Given the description of an element on the screen output the (x, y) to click on. 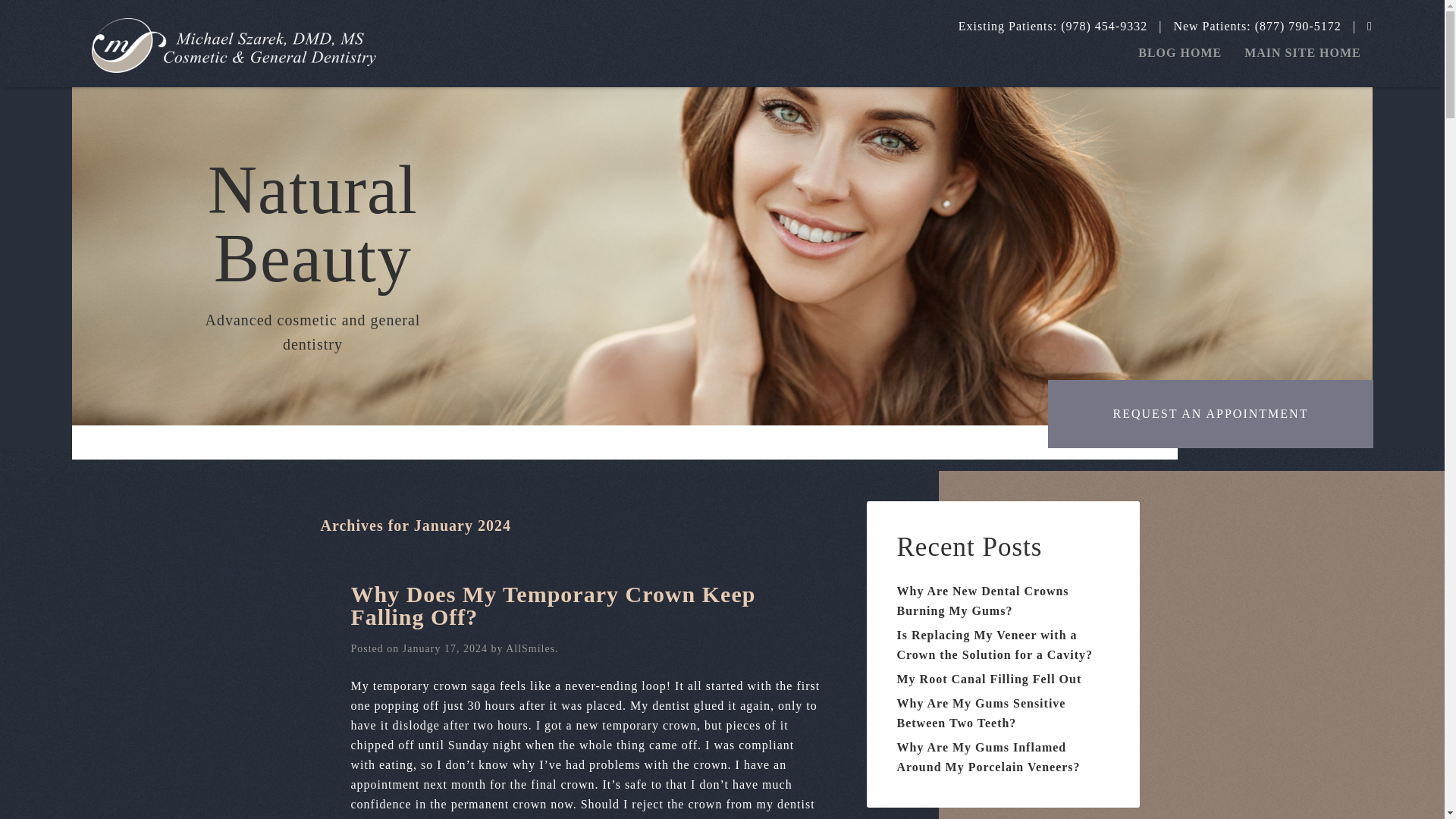
BLOG HOME (1179, 52)
MAIN SITE HOME (1303, 52)
My Root Canal Filling Fell Out (988, 678)
REQUEST AN APPOINTMENT (1210, 413)
Why Are My Gums Sensitive Between Two Teeth? (980, 712)
Why Does My Temporary Crown Keep Falling Off? (552, 605)
Why Are New Dental Crowns Burning My Gums? (982, 600)
Why Are My Gums Inflamed Around My Porcelain Veneers? (988, 757)
Lowell Cosmetic Dentistry Blog (233, 45)
